Given the description of an element on the screen output the (x, y) to click on. 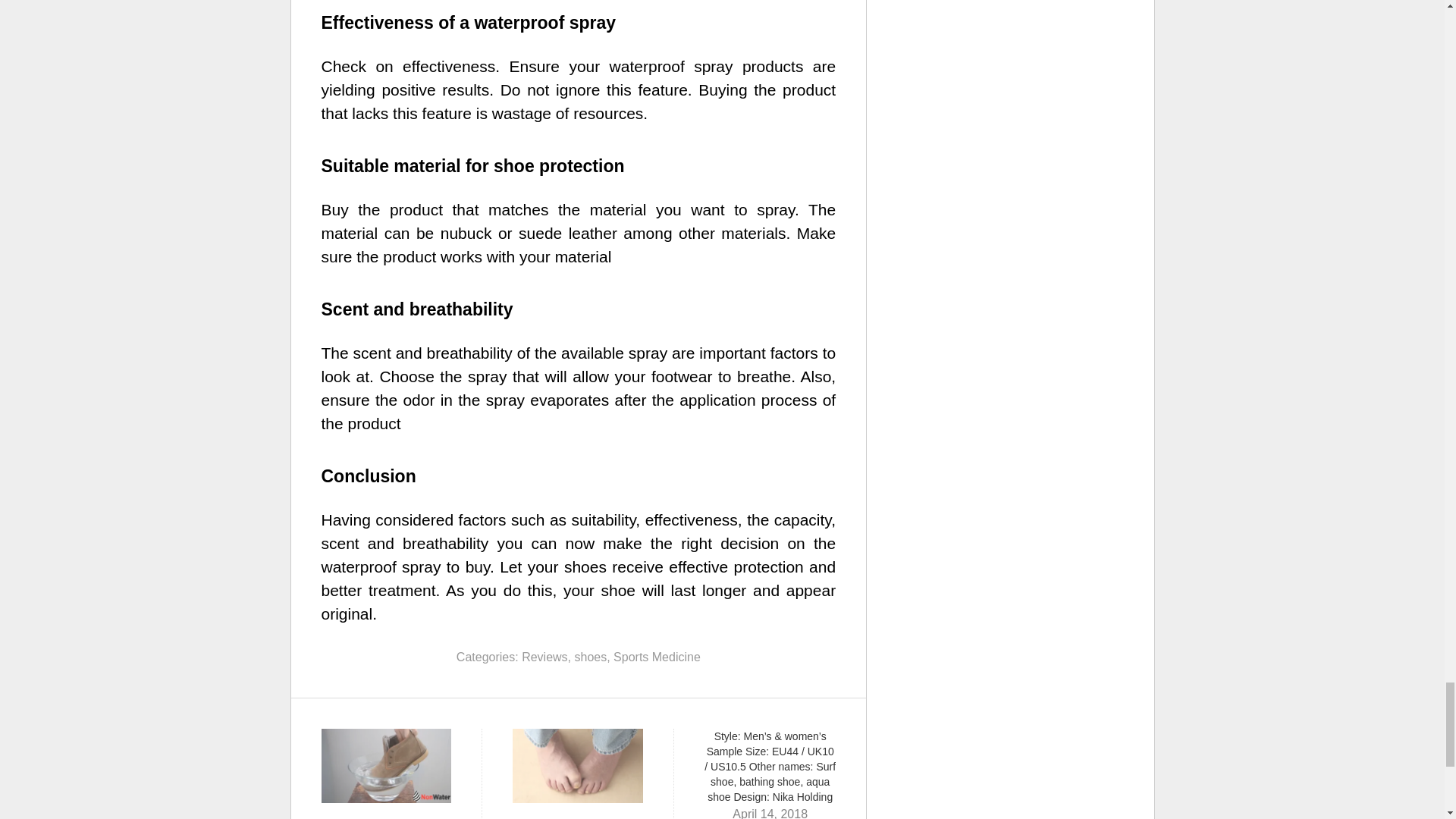
Top 5 Best Suede Waterproof Spray Protectors (386, 773)
Reviews (544, 656)
shoes (590, 656)
